Given the description of an element on the screen output the (x, y) to click on. 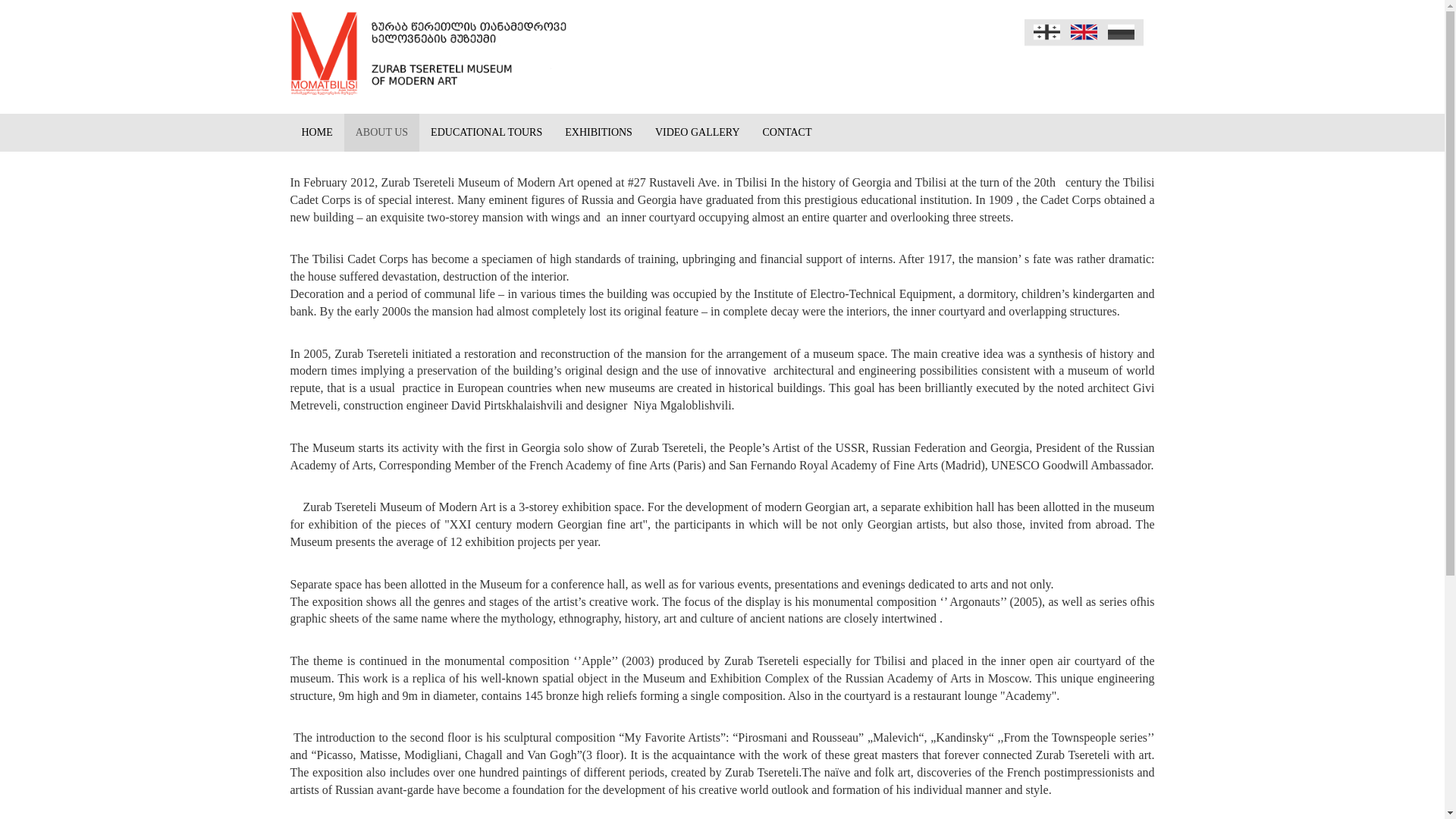
VIDEO GALLERY (697, 132)
EXHIBITIONS (598, 132)
ABOUT US (381, 132)
EDUCATIONAL TOURS (486, 132)
HOME (316, 132)
CONTACT (787, 132)
